Given the description of an element on the screen output the (x, y) to click on. 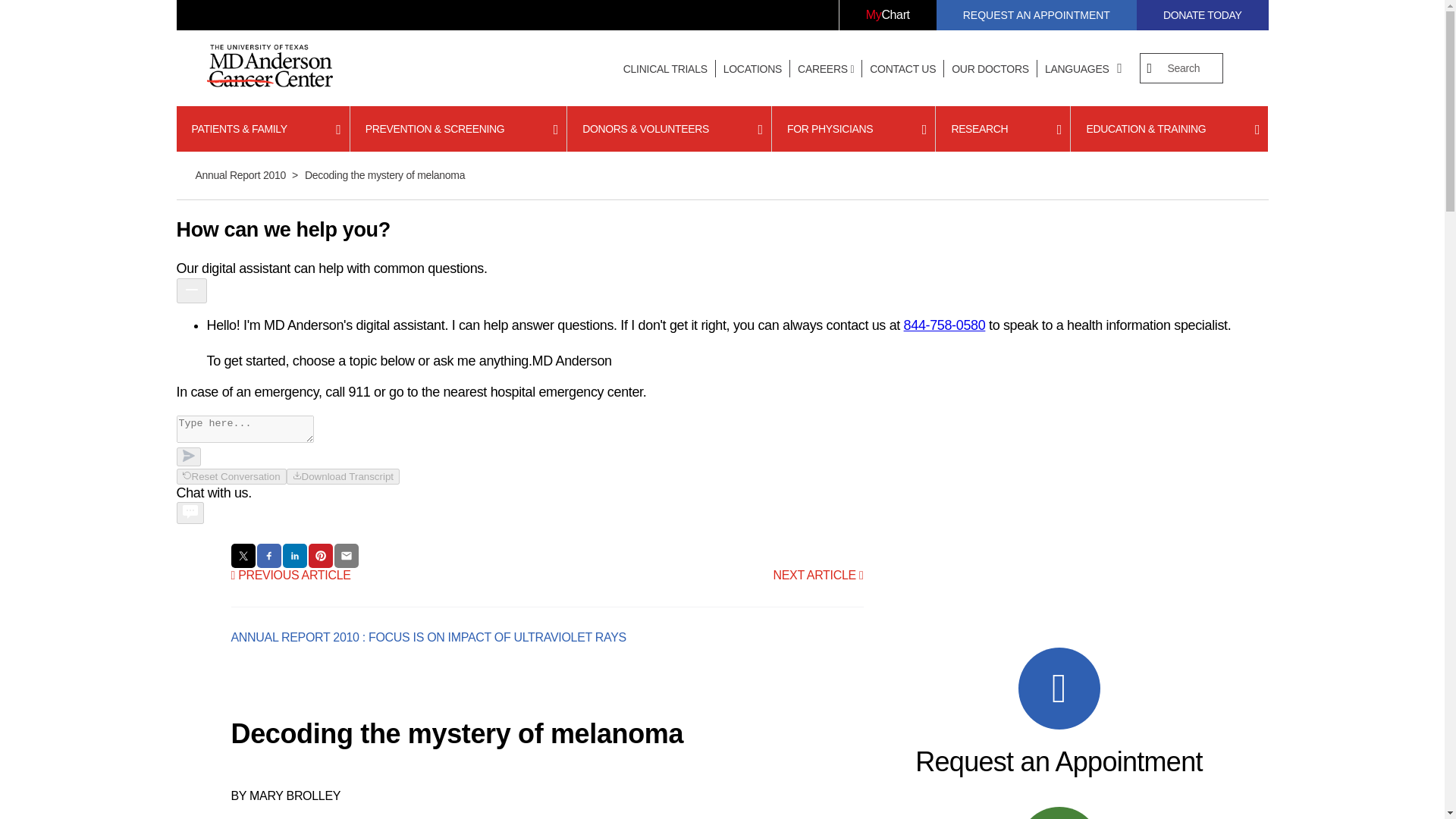
LOCATIONS (752, 69)
CONTACT US (902, 69)
MyChart (888, 15)
CLINICAL TRIALS (664, 69)
 Opens a new window (888, 15)
OUR DOCTORS (989, 69)
CAREERS (825, 69)
